Given the description of an element on the screen output the (x, y) to click on. 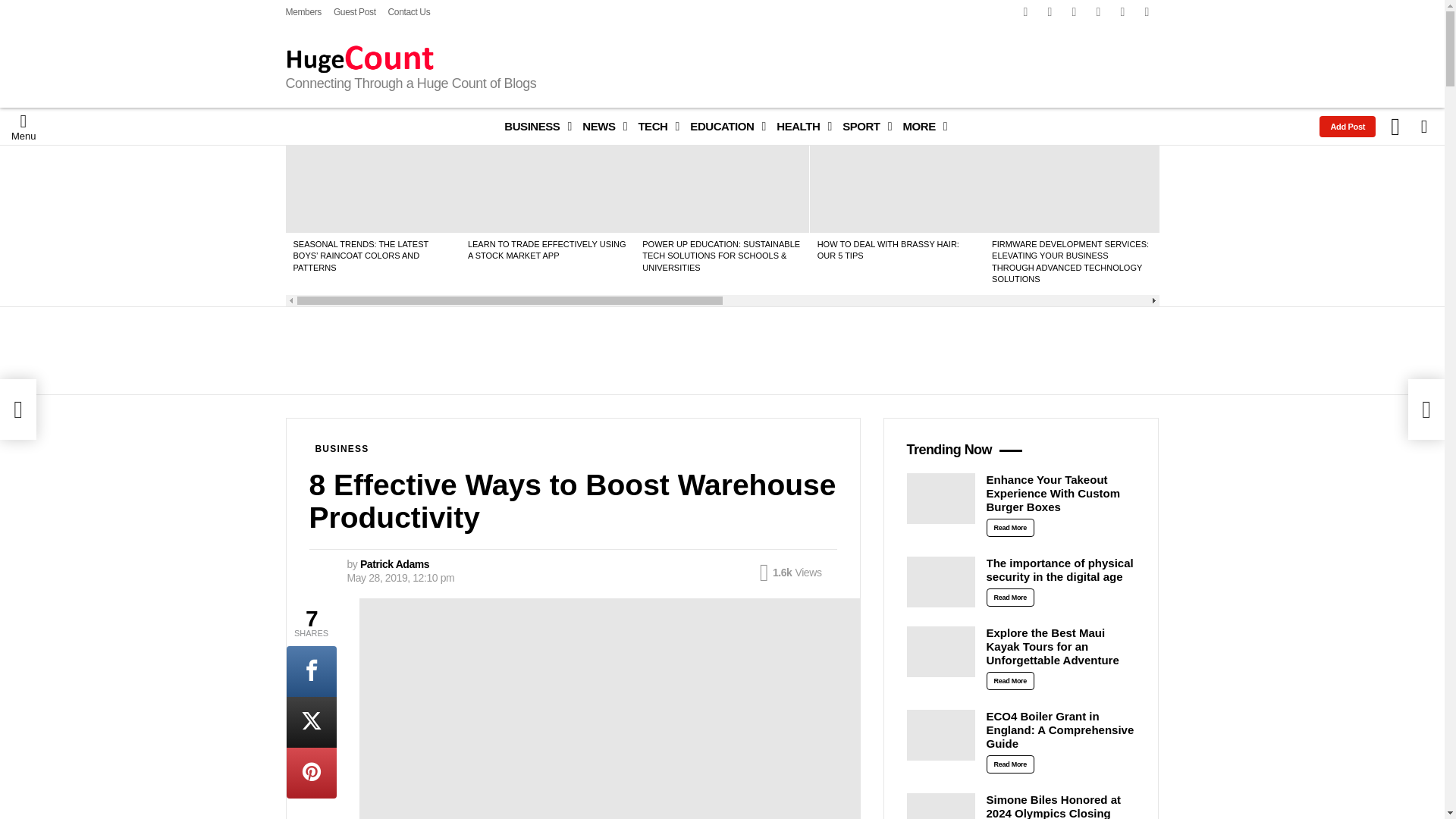
pinterest (1121, 11)
instagram (1073, 11)
facebook (1024, 11)
Guest Post (354, 12)
linkedin (1097, 11)
BUSINESS (534, 126)
TECH (654, 126)
tumblr (1146, 11)
NEWS (601, 126)
Contact Us (409, 12)
